Given the description of an element on the screen output the (x, y) to click on. 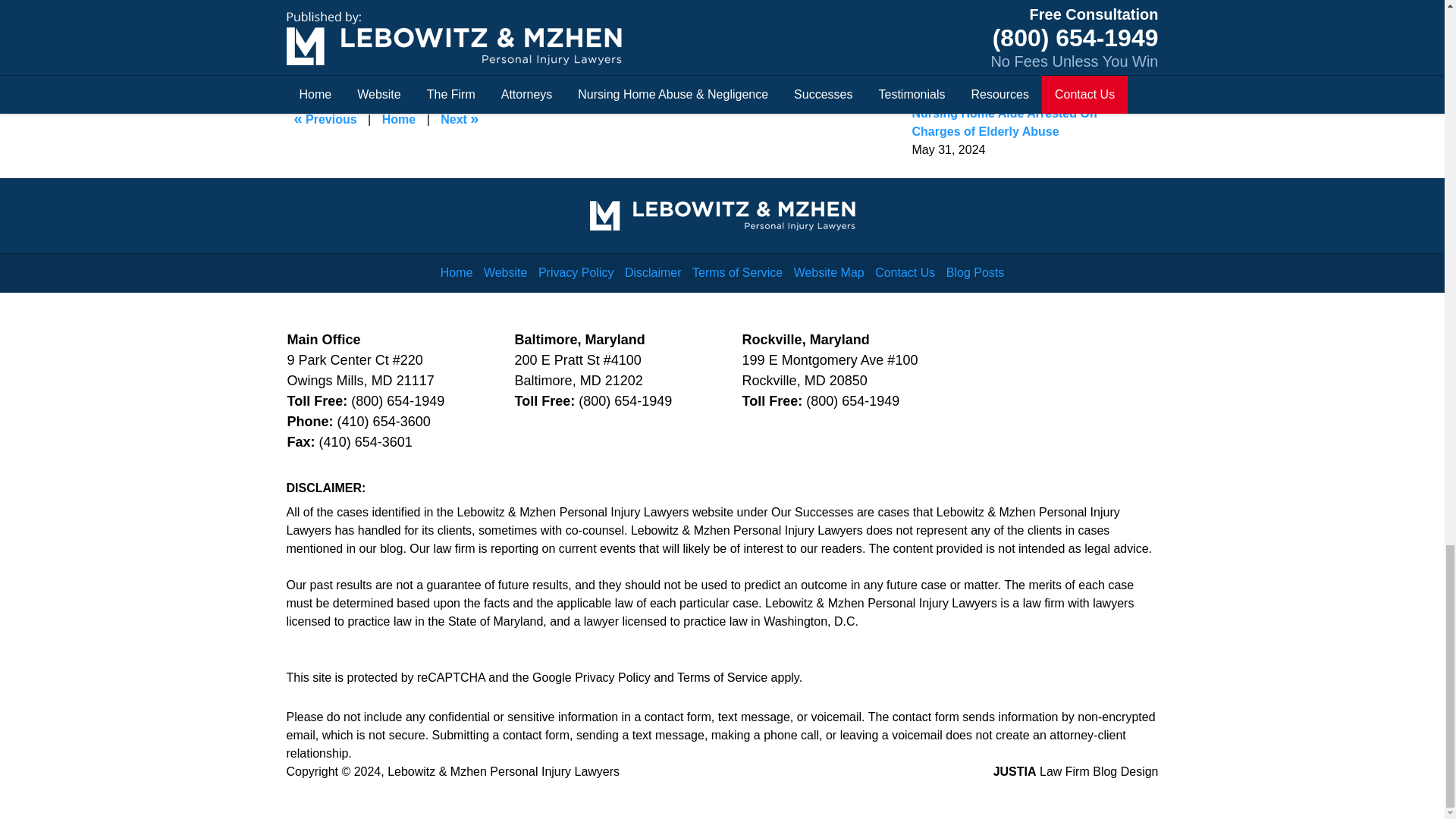
View all posts in Nursing Home Negligence (521, 32)
Nursing Home Abuse Caught in the Act; Charges Unlikely (459, 119)
View all posts in Nursing Home Abuse (386, 32)
